Given the description of an element on the screen output the (x, y) to click on. 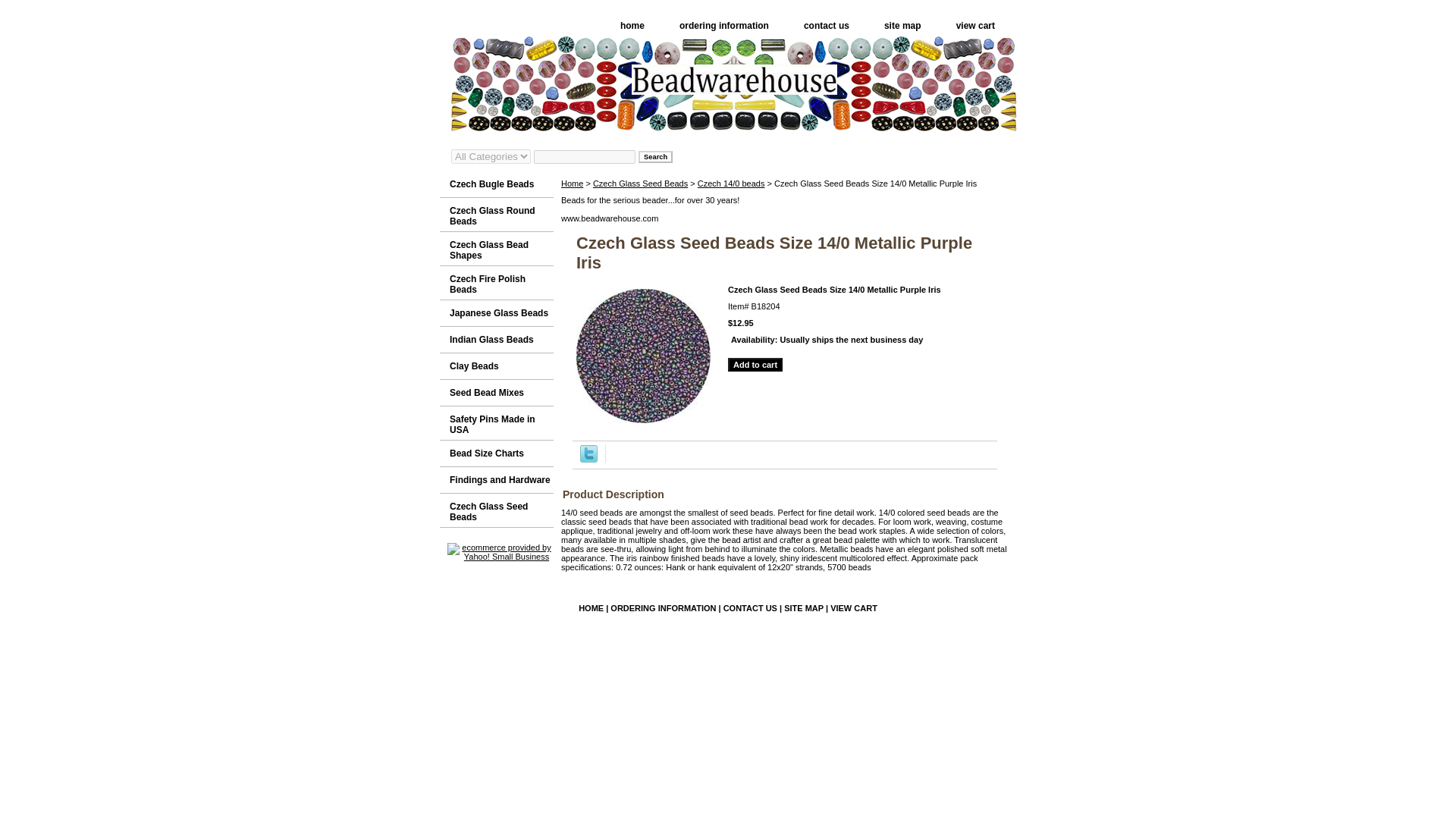
Czech Glass Bead Shapes (496, 248)
Czech Glass Seed Beads (496, 510)
Indian Glass Beads (496, 339)
Japanese Glass Beads (496, 313)
Czech Glass Seed Beads (496, 510)
site map (902, 26)
Czech Bugle Beads (496, 184)
Czech Glass Round Beads (496, 214)
Czech Glass Bead Shapes (496, 248)
Search (655, 155)
